Given the description of an element on the screen output the (x, y) to click on. 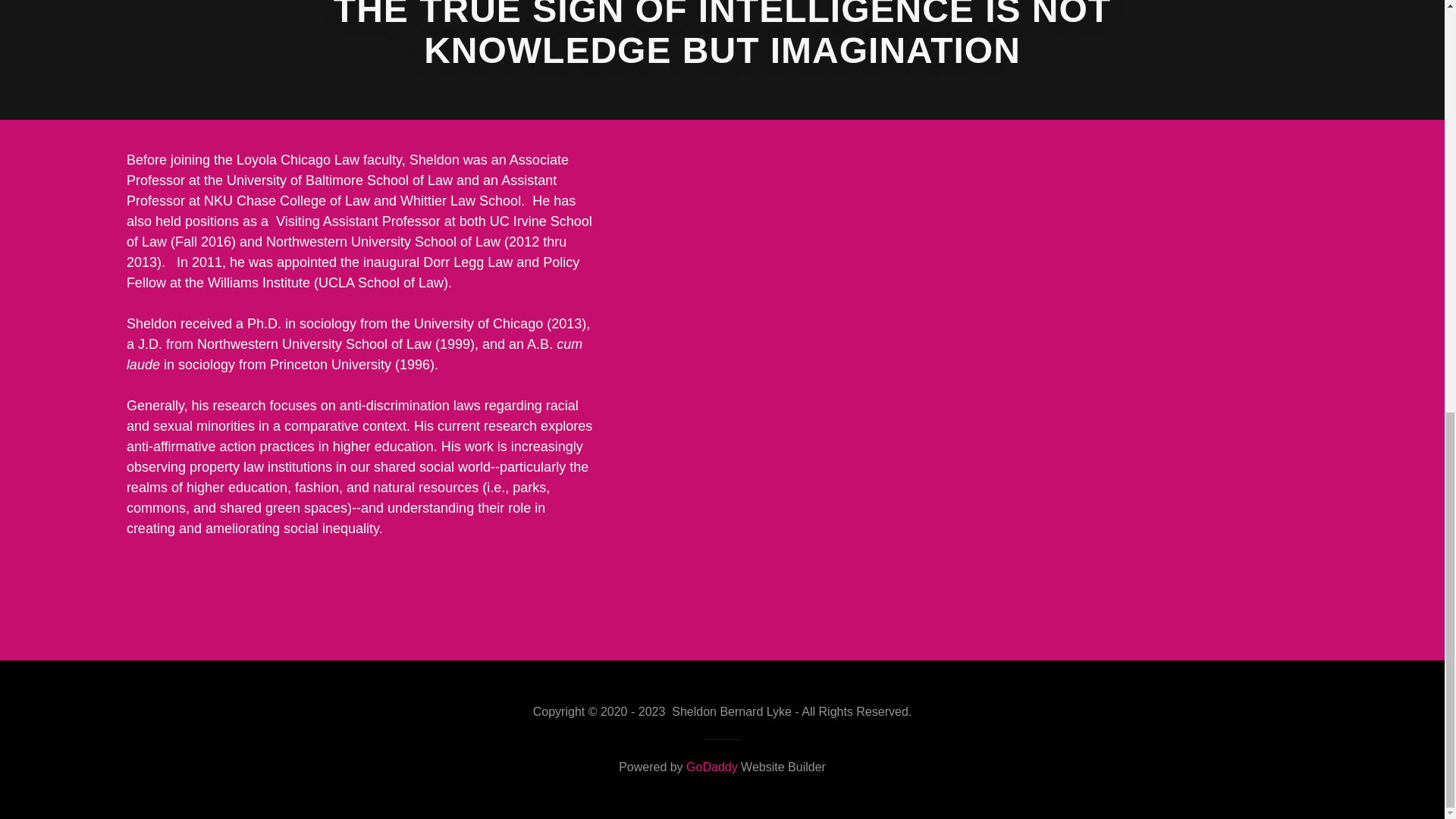
GoDaddy (711, 766)
